Given the description of an element on the screen output the (x, y) to click on. 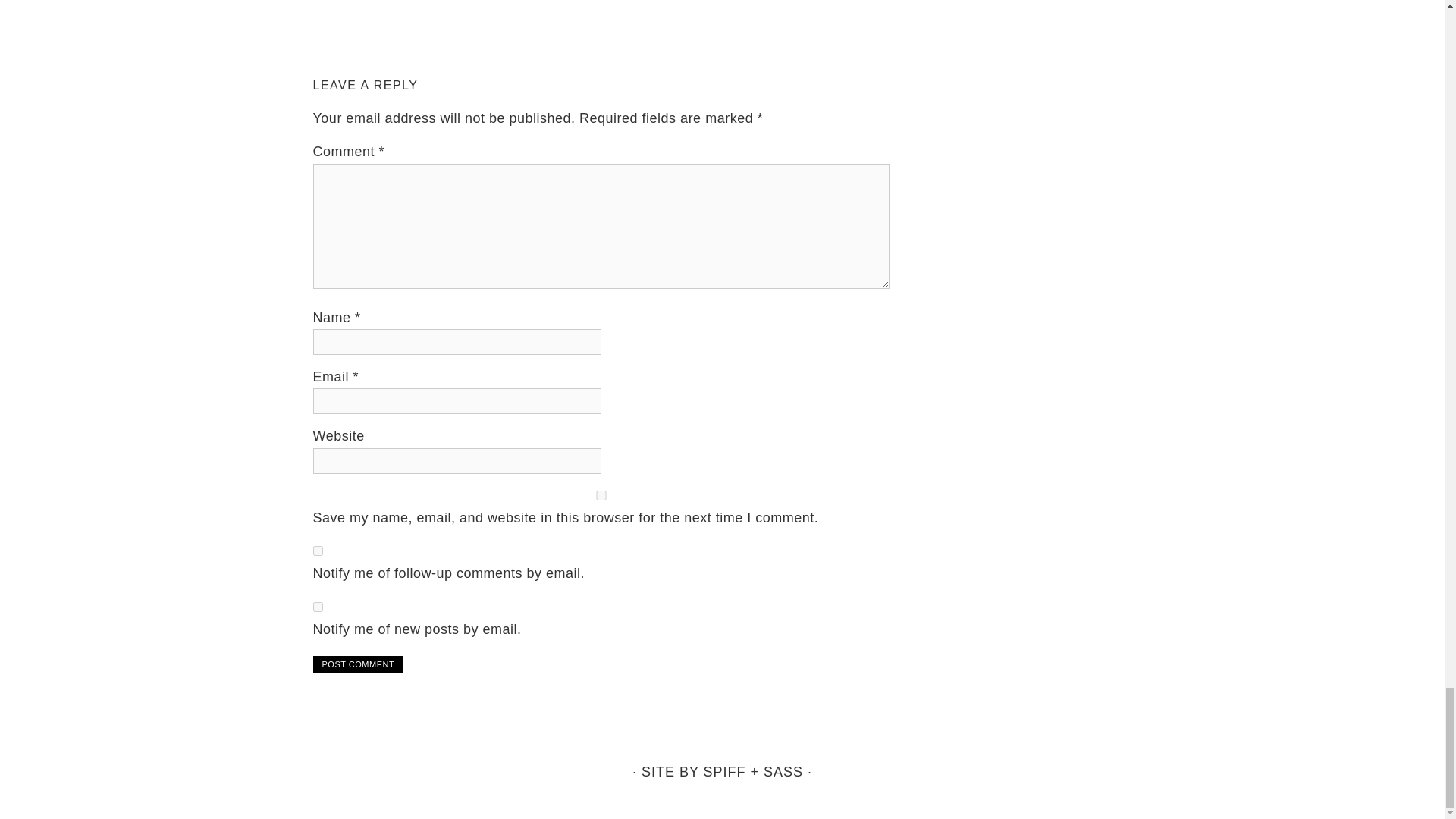
Post Comment (358, 664)
yes (600, 495)
subscribe (317, 551)
subscribe (317, 605)
